Given the description of an element on the screen output the (x, y) to click on. 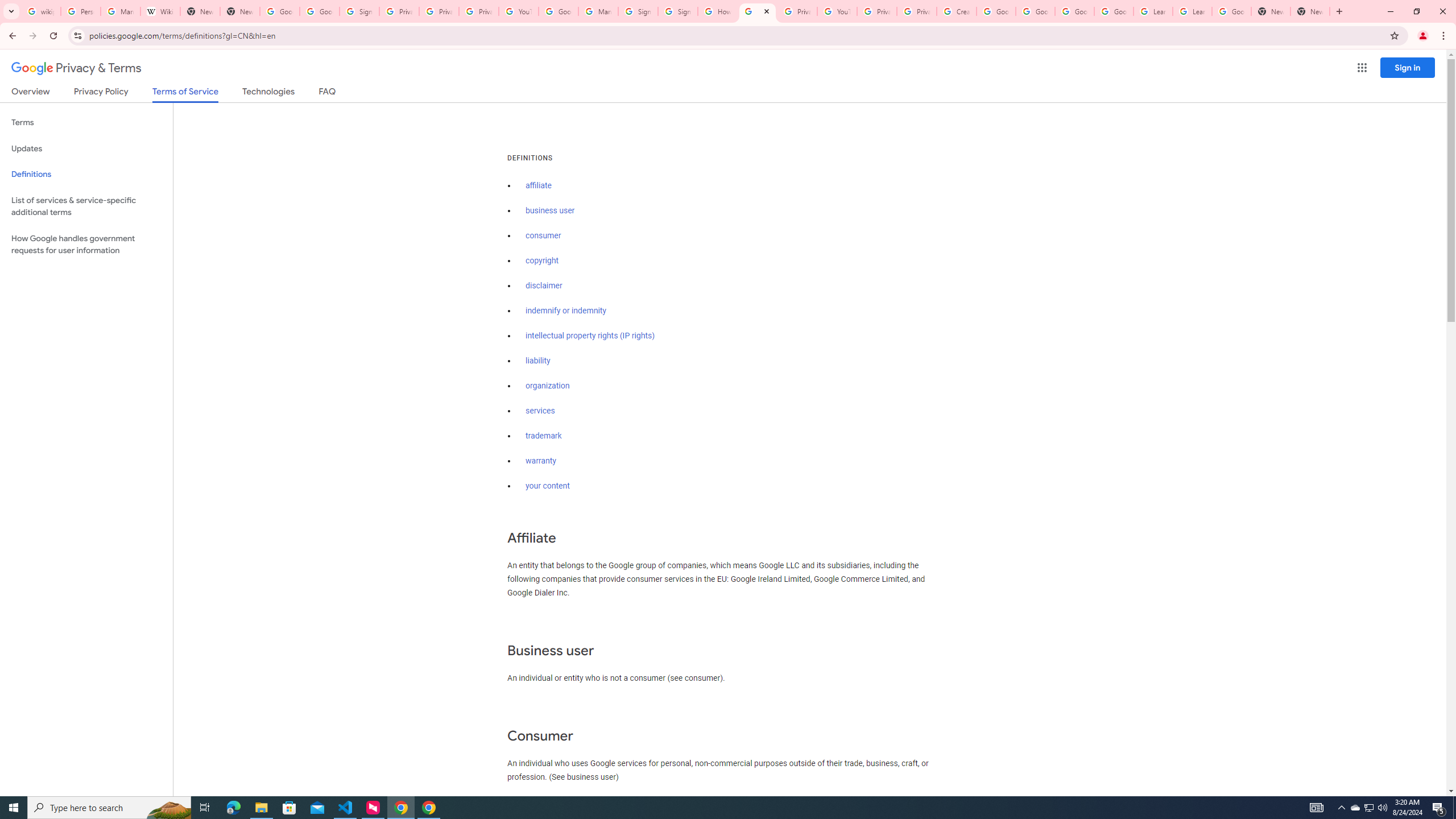
Google Account Help (995, 11)
Personalization & Google Search results - Google Search Help (80, 11)
services (539, 411)
Manage your Location History - Google Search Help (120, 11)
Google Account Help (557, 11)
organization (547, 385)
New Tab (1270, 11)
